Given the description of an element on the screen output the (x, y) to click on. 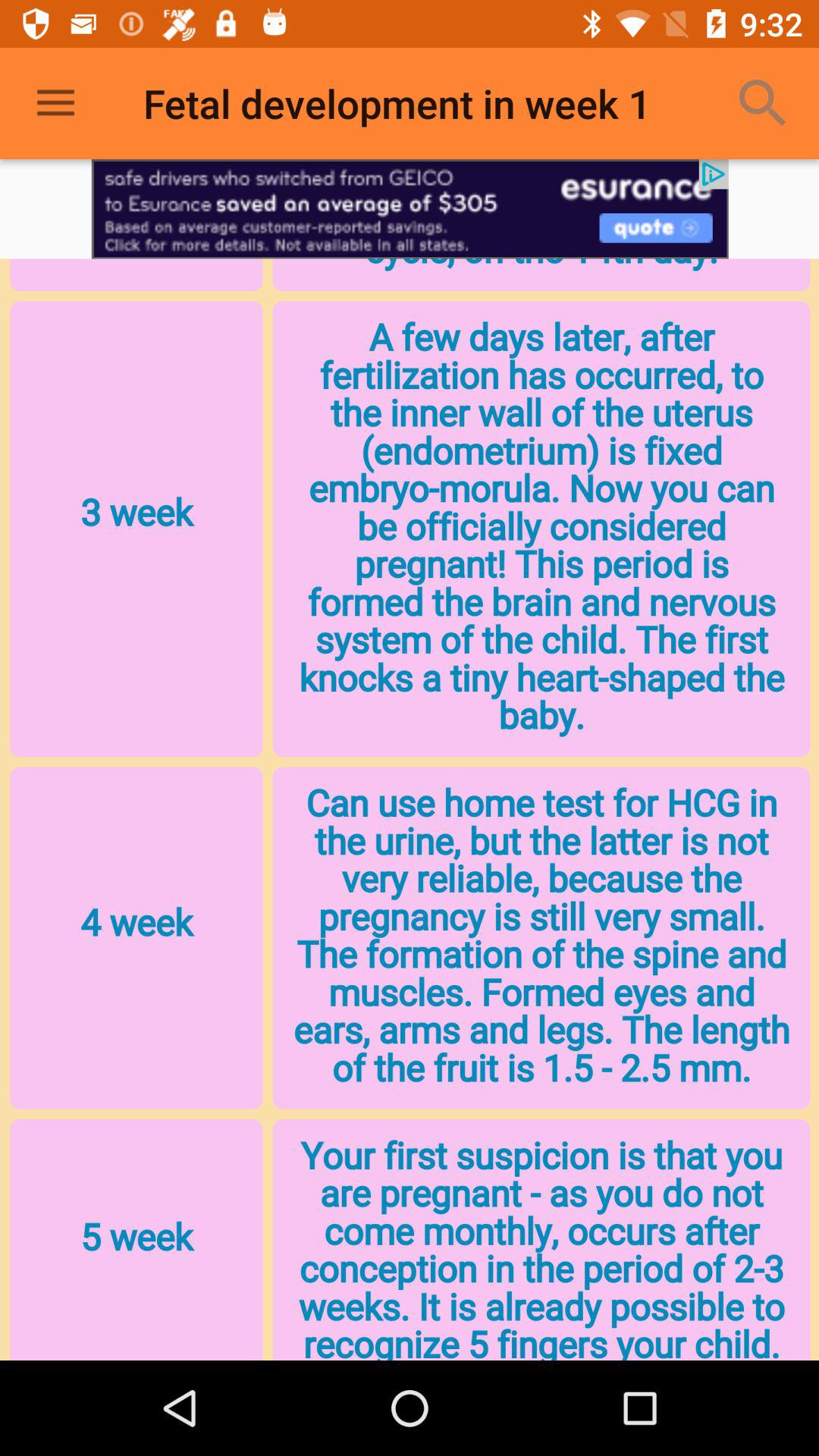
get quote (409, 208)
